Given the description of an element on the screen output the (x, y) to click on. 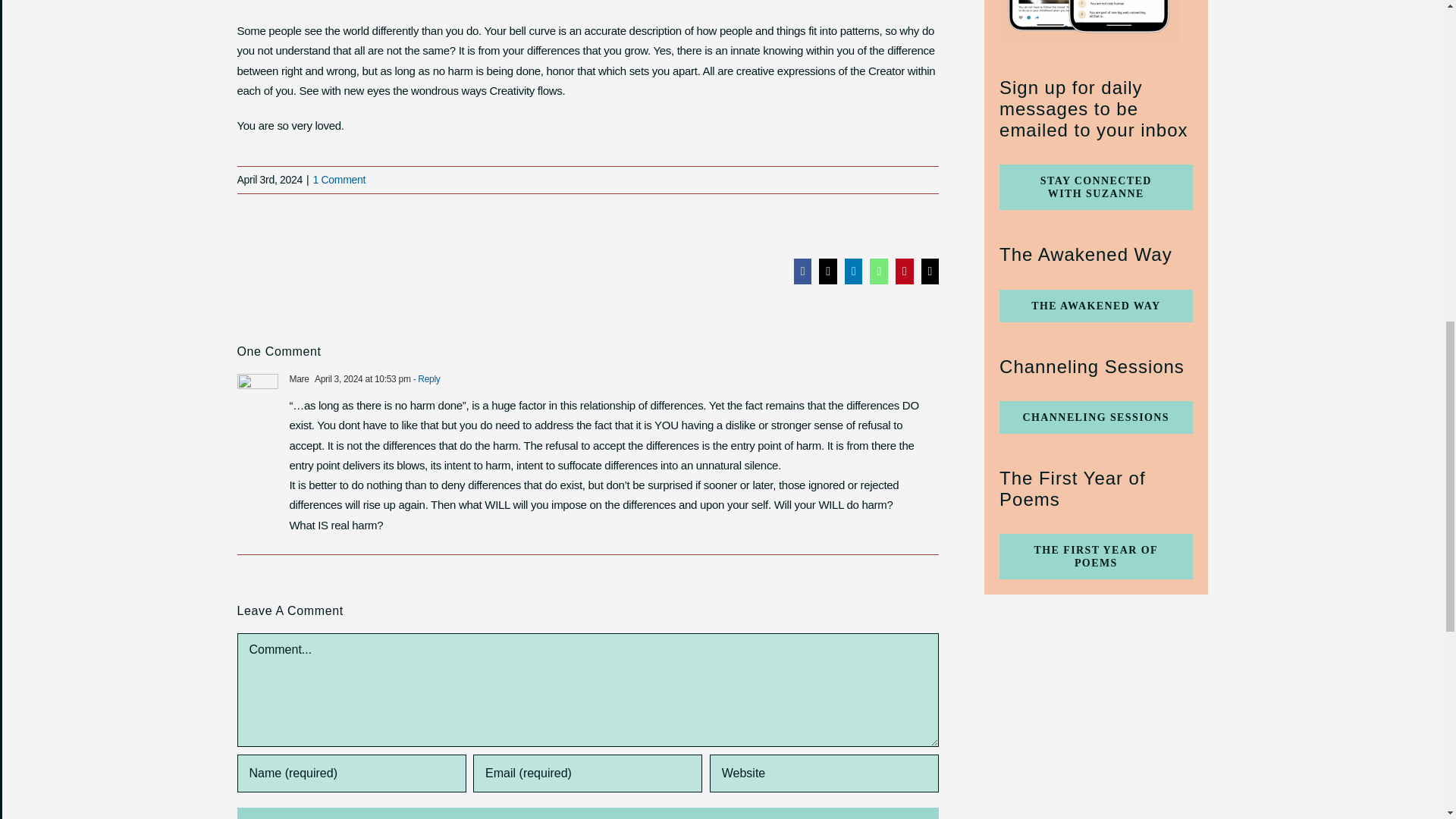
Post Comment (587, 813)
